Given the description of an element on the screen output the (x, y) to click on. 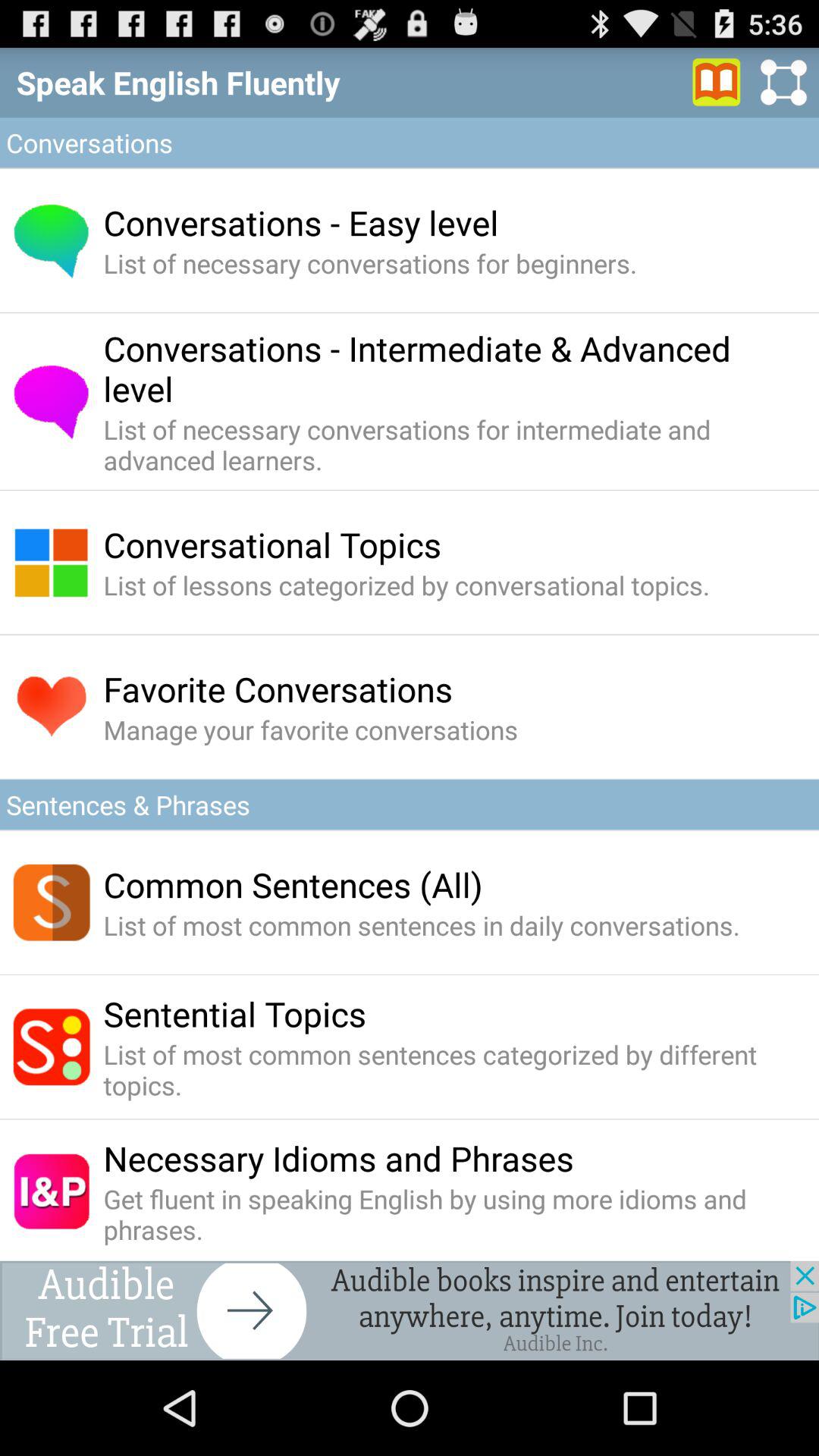
advertisement link (409, 1310)
